Given the description of an element on the screen output the (x, y) to click on. 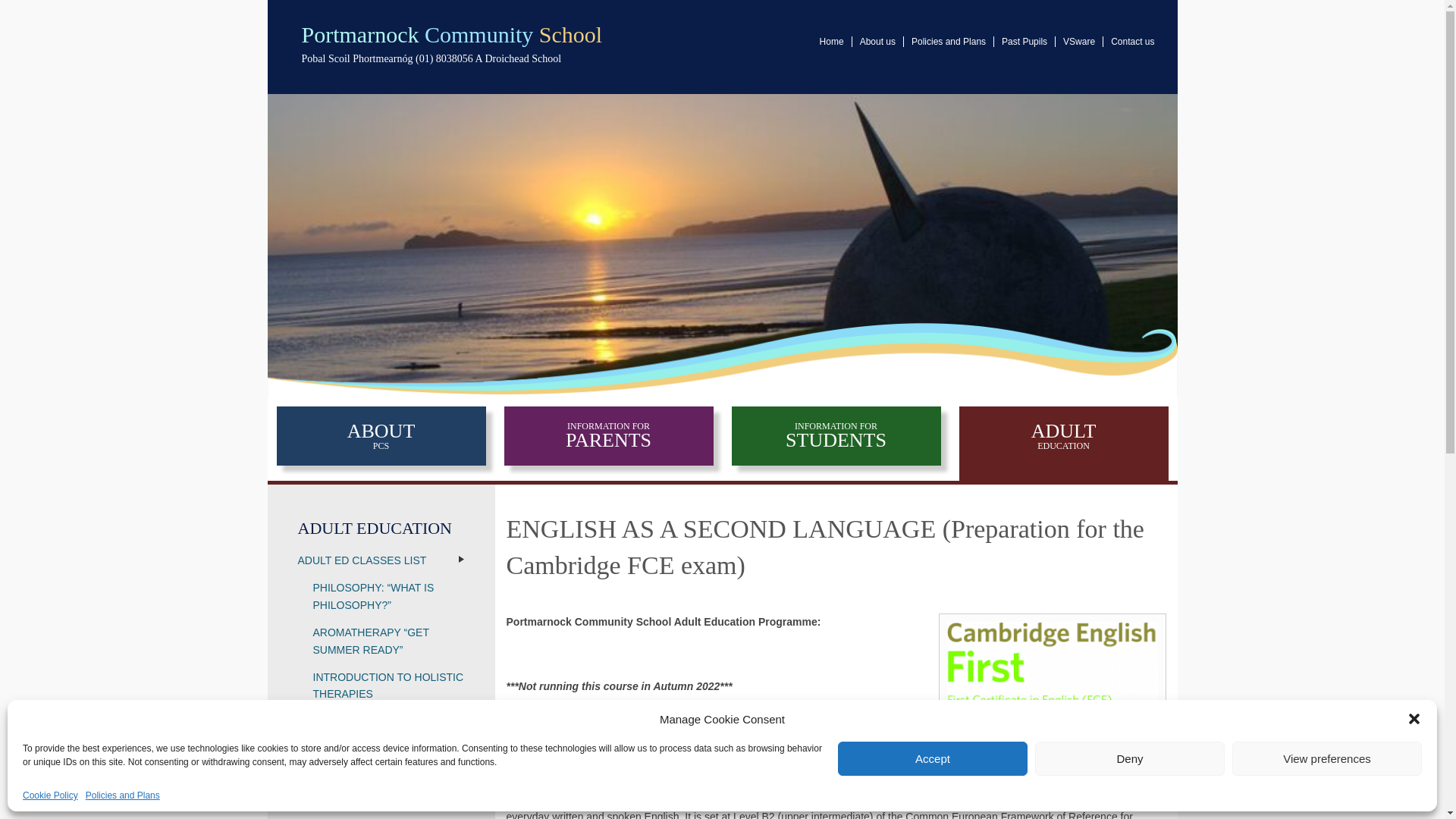
View preferences (1326, 758)
Home (831, 41)
About us (877, 41)
Cookie Policy (50, 795)
Contact us (1128, 41)
Policies and Plans (122, 795)
Past Pupils (1024, 41)
VSware (1079, 41)
Policies and Plans (949, 41)
Accept (932, 758)
